Given the description of an element on the screen output the (x, y) to click on. 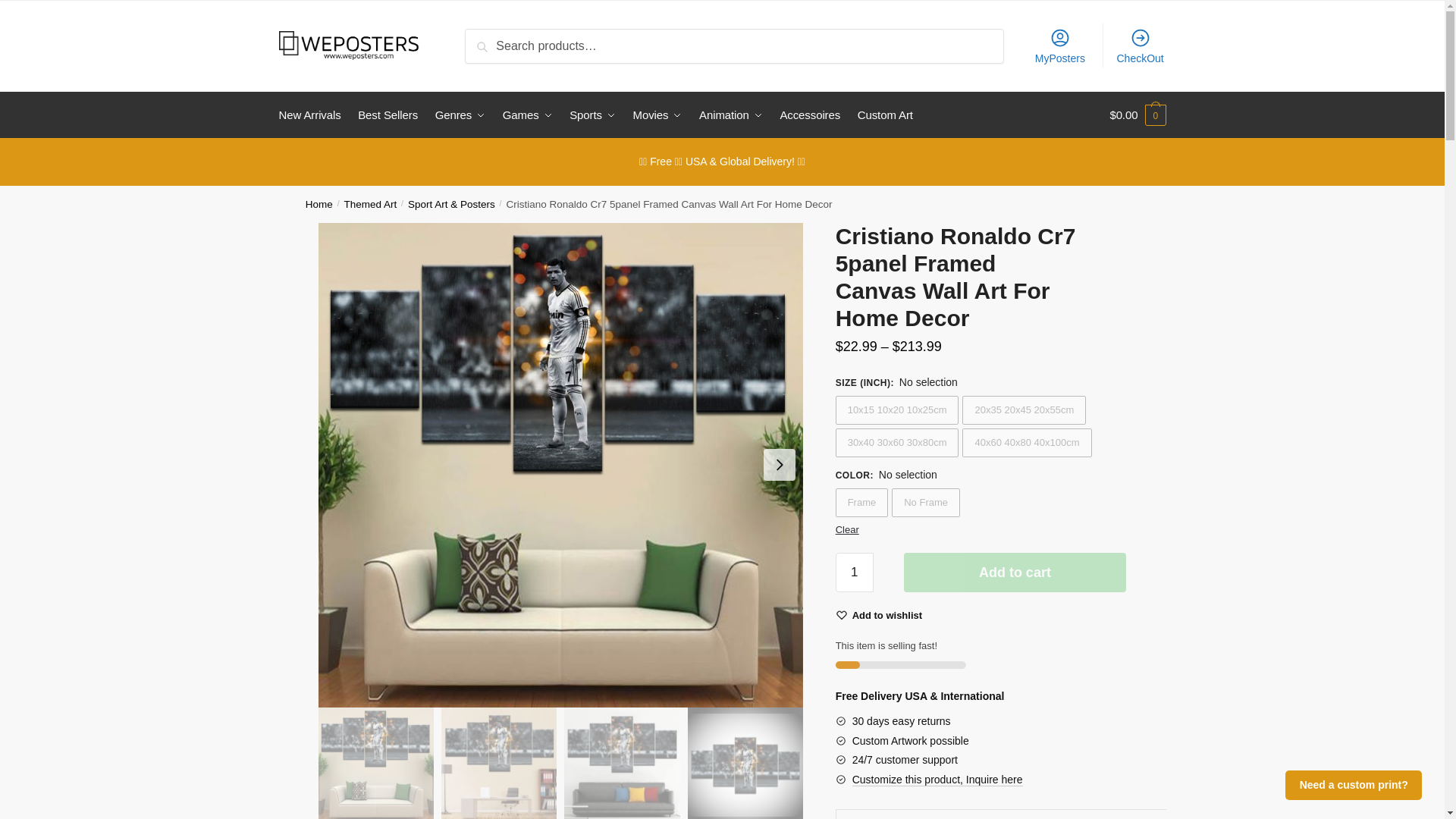
Best Sellers (387, 115)
1 (854, 572)
New Arrivals (313, 115)
Genres (460, 115)
View your shopping cart (1137, 115)
CheckOut (1139, 45)
